Given the description of an element on the screen output the (x, y) to click on. 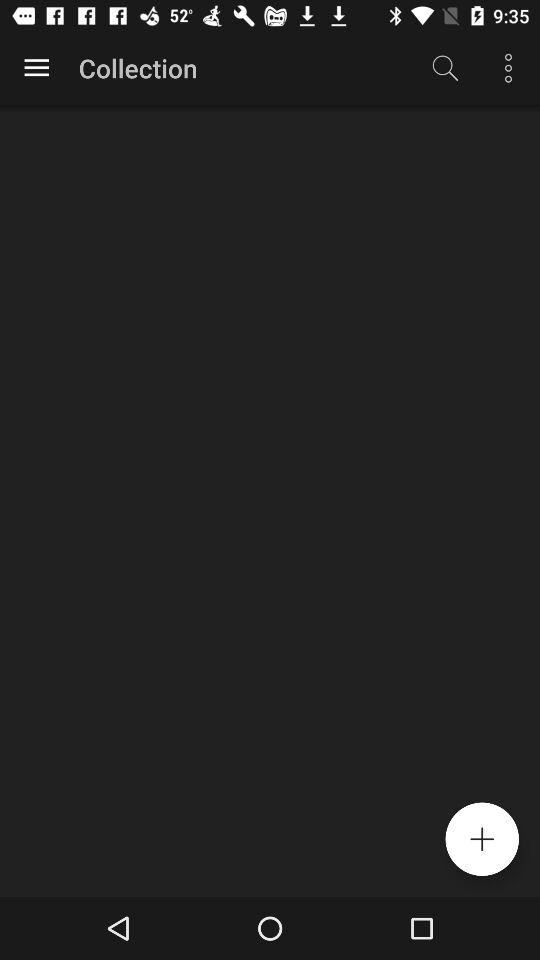
click icon next to the collection item (36, 68)
